Given the description of an element on the screen output the (x, y) to click on. 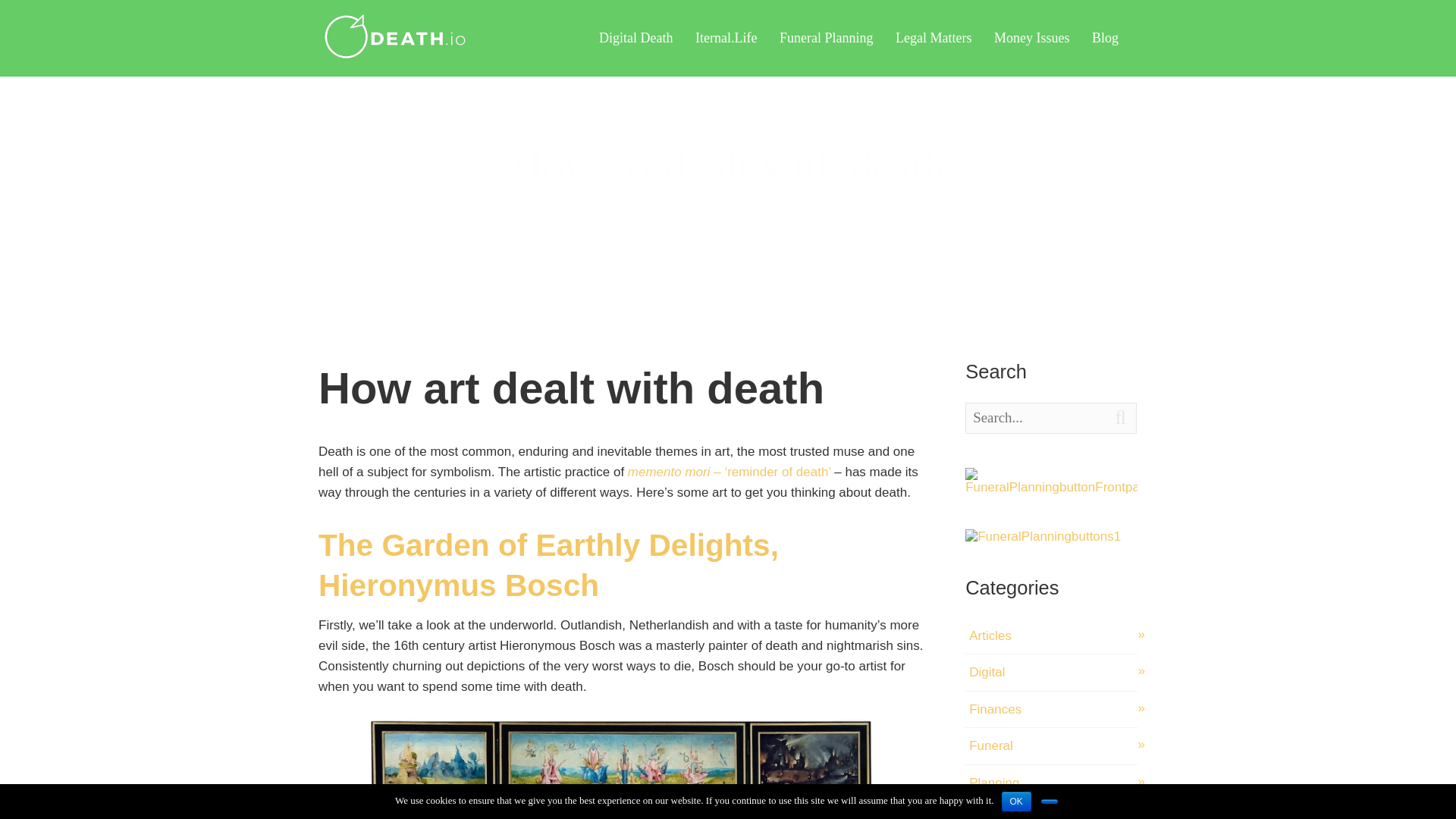
Blog (1105, 37)
Uncategorized (1054, 810)
Digital Death (635, 37)
Funeral Planning (825, 37)
Planning (1054, 782)
Digital (1054, 672)
Money Issues (1032, 37)
Funeral (1054, 745)
Finances (1054, 709)
Iternal.Life (726, 37)
